Given the description of an element on the screen output the (x, y) to click on. 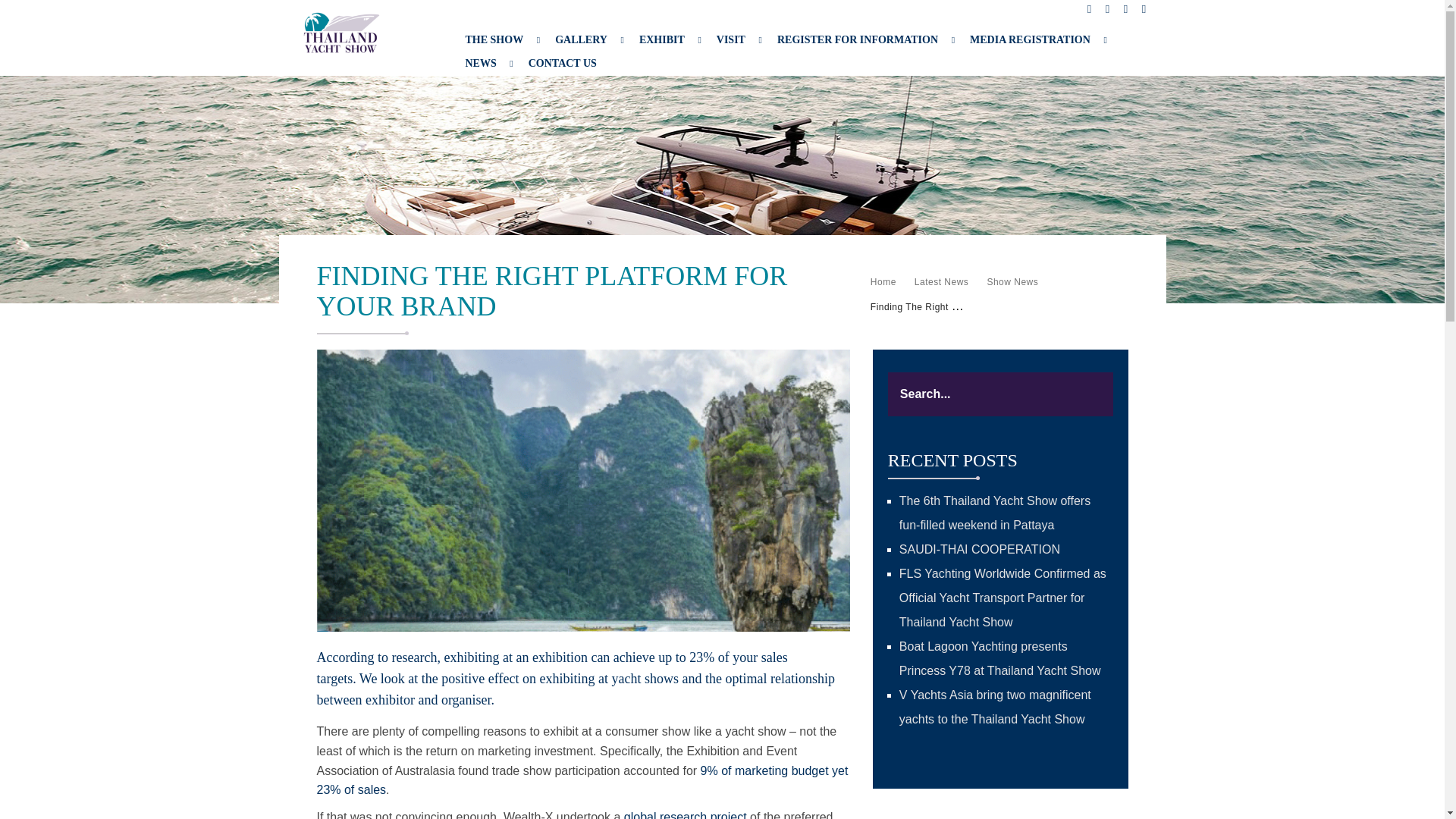
MEDIA REGISTRATION (1029, 36)
GALLERY (580, 22)
Home (883, 281)
EXHIBIT (661, 27)
CONTACT US (562, 62)
VISIT (730, 33)
NEWS (480, 61)
REGISTER FOR INFORMATION (857, 34)
